Given the description of an element on the screen output the (x, y) to click on. 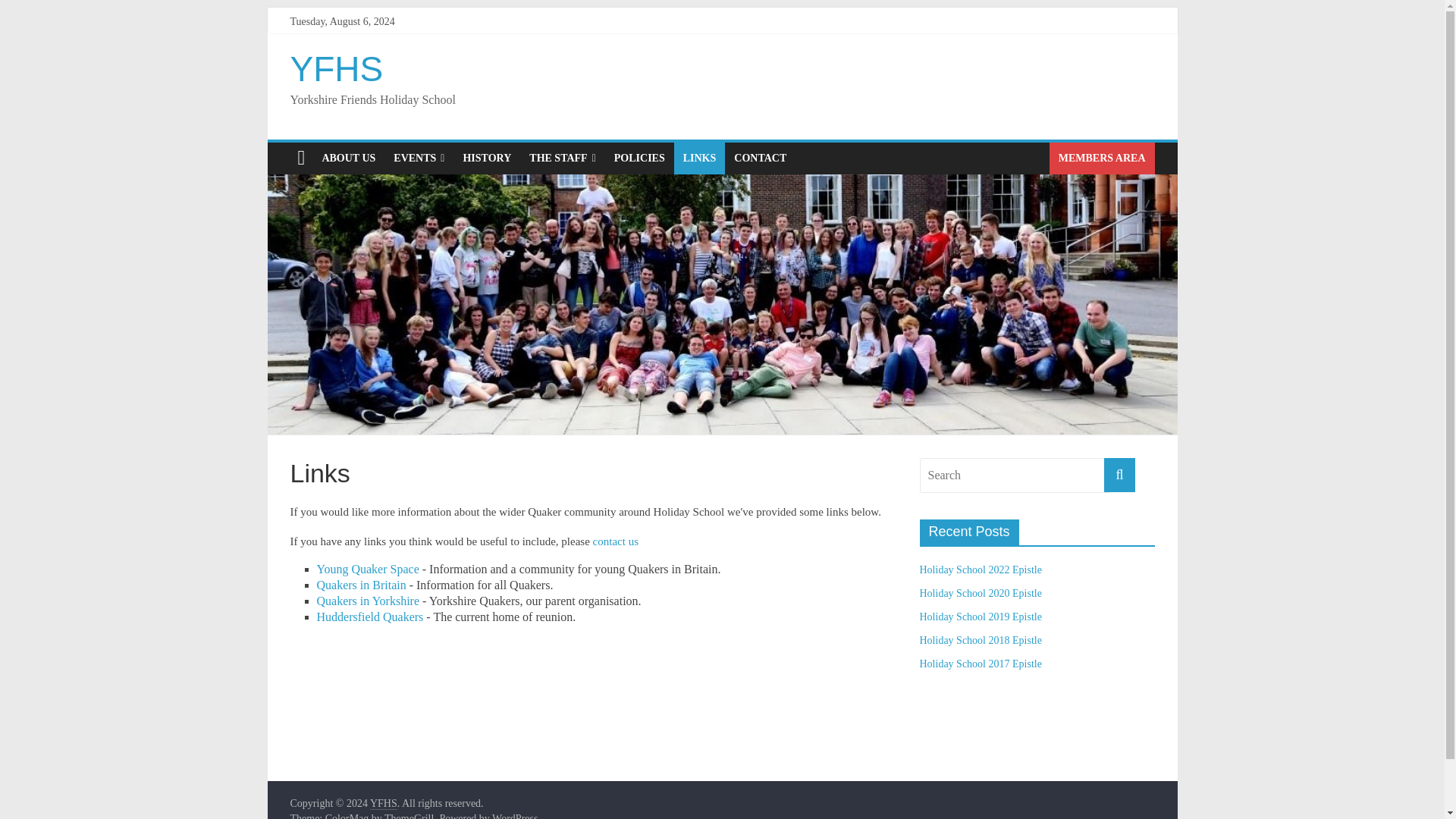
YFHS (383, 803)
MEMBERS AREA (1101, 158)
Holiday School 2017 Epistle (979, 663)
ABOUT US (348, 158)
WordPress (514, 816)
YFHS (383, 803)
ThemeGrill (408, 816)
ThemeGrill (408, 816)
Quakers in Yorkshire (368, 600)
HISTORY (485, 158)
YFHS (335, 68)
EVENTS (418, 158)
Quakers in Britain (361, 584)
Holiday School 2019 Epistle (979, 616)
Holiday School 2022 Epistle (979, 569)
